Given the description of an element on the screen output the (x, y) to click on. 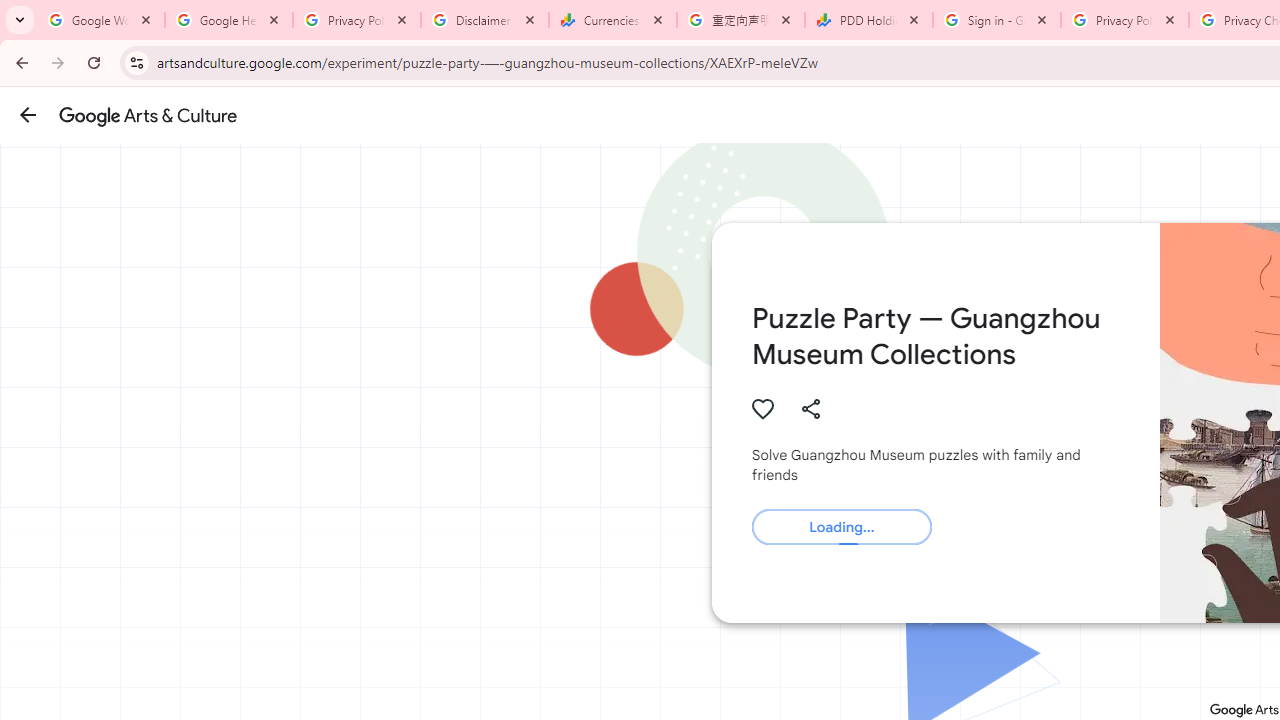
Loading... (841, 527)
Google Arts & Culture (148, 115)
Authenticate to favorite this asset. (762, 408)
